Given the description of an element on the screen output the (x, y) to click on. 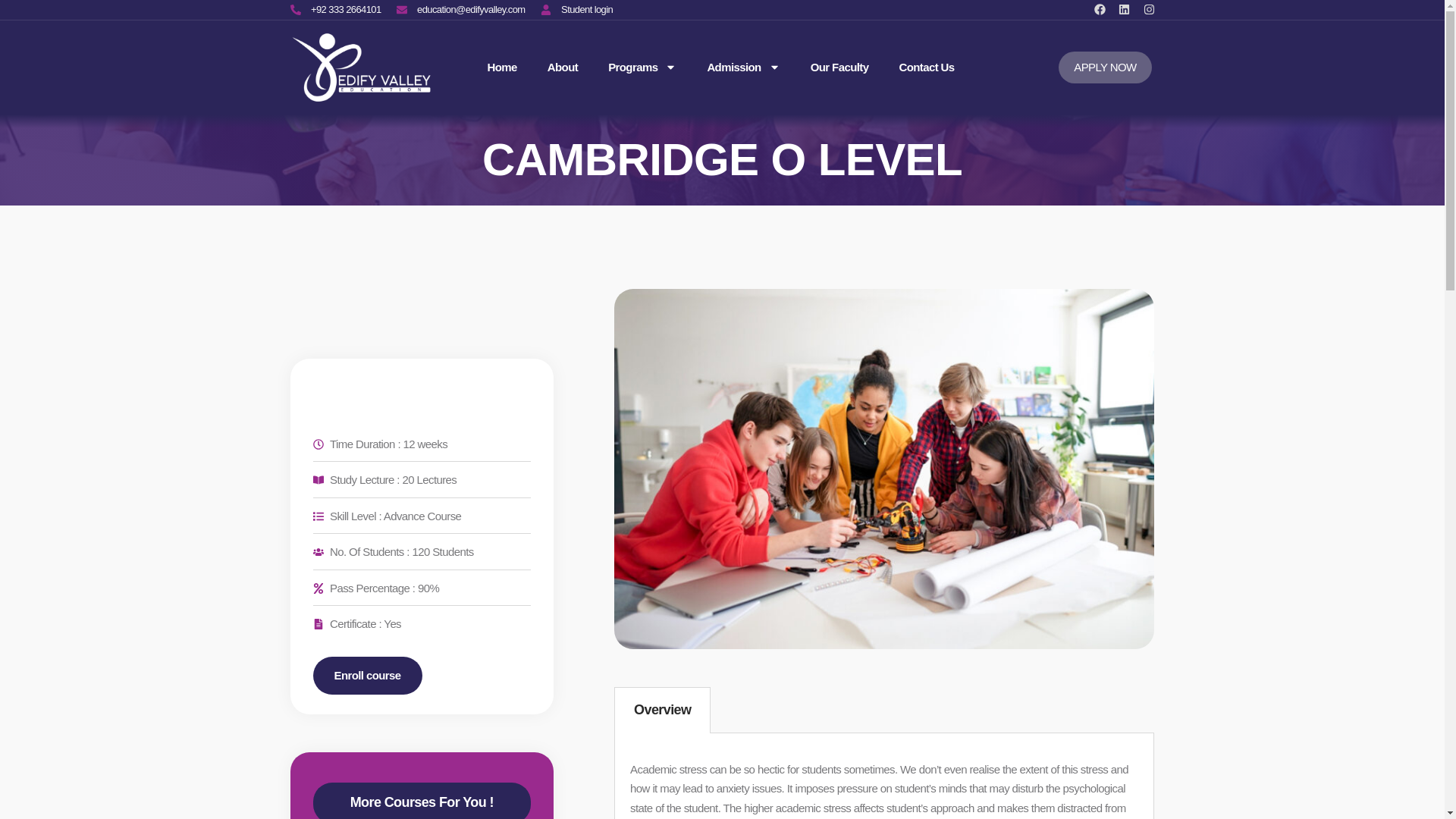
Contact Us (925, 67)
Home (501, 67)
About (562, 67)
Enroll course (367, 675)
Programs (642, 67)
Admission (742, 67)
Our Faculty (839, 67)
APPLY NOW (1104, 67)
Student login (576, 9)
